Given the description of an element on the screen output the (x, y) to click on. 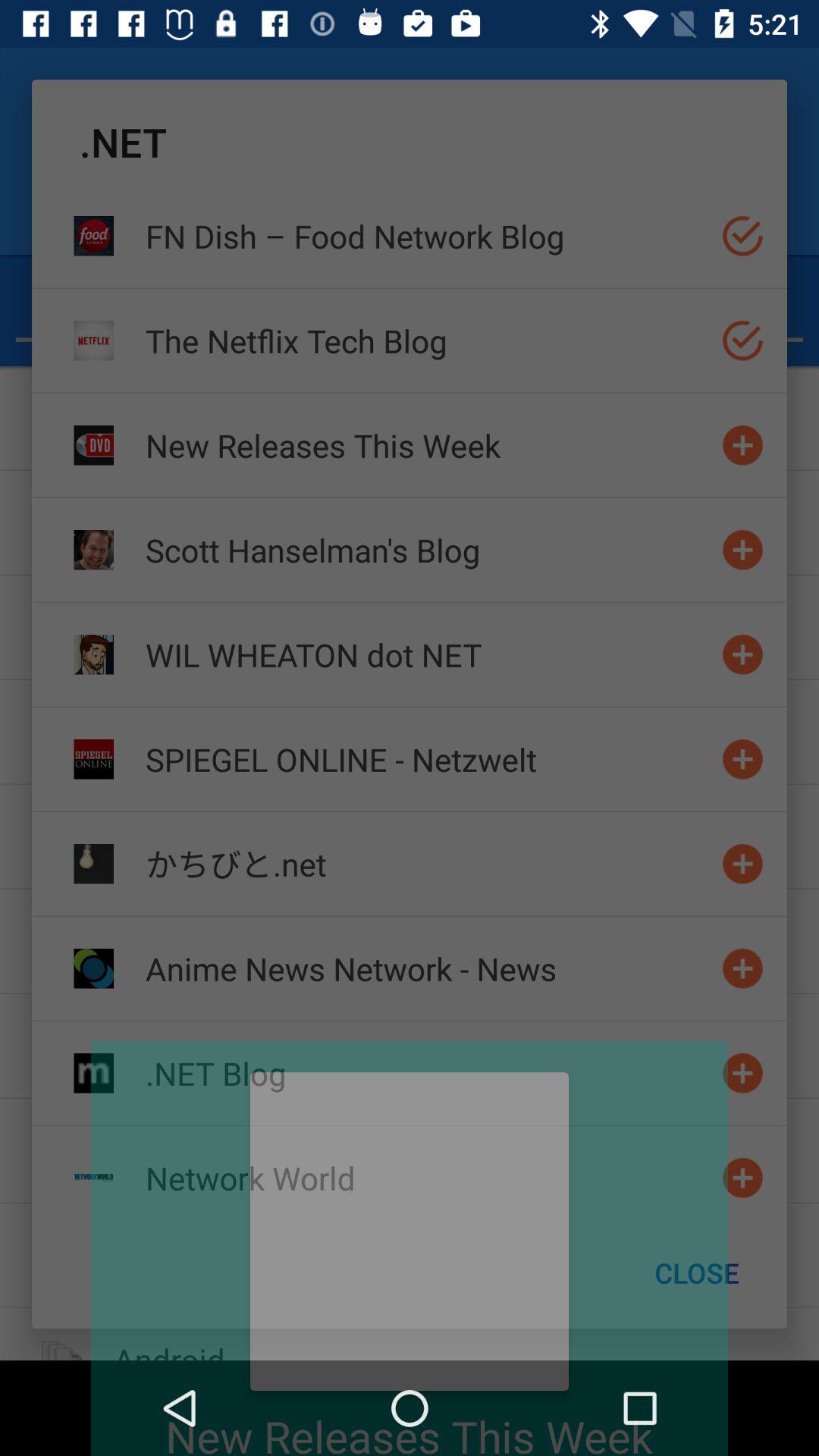
select wil wheaton dot icon (426, 654)
